Given the description of an element on the screen output the (x, y) to click on. 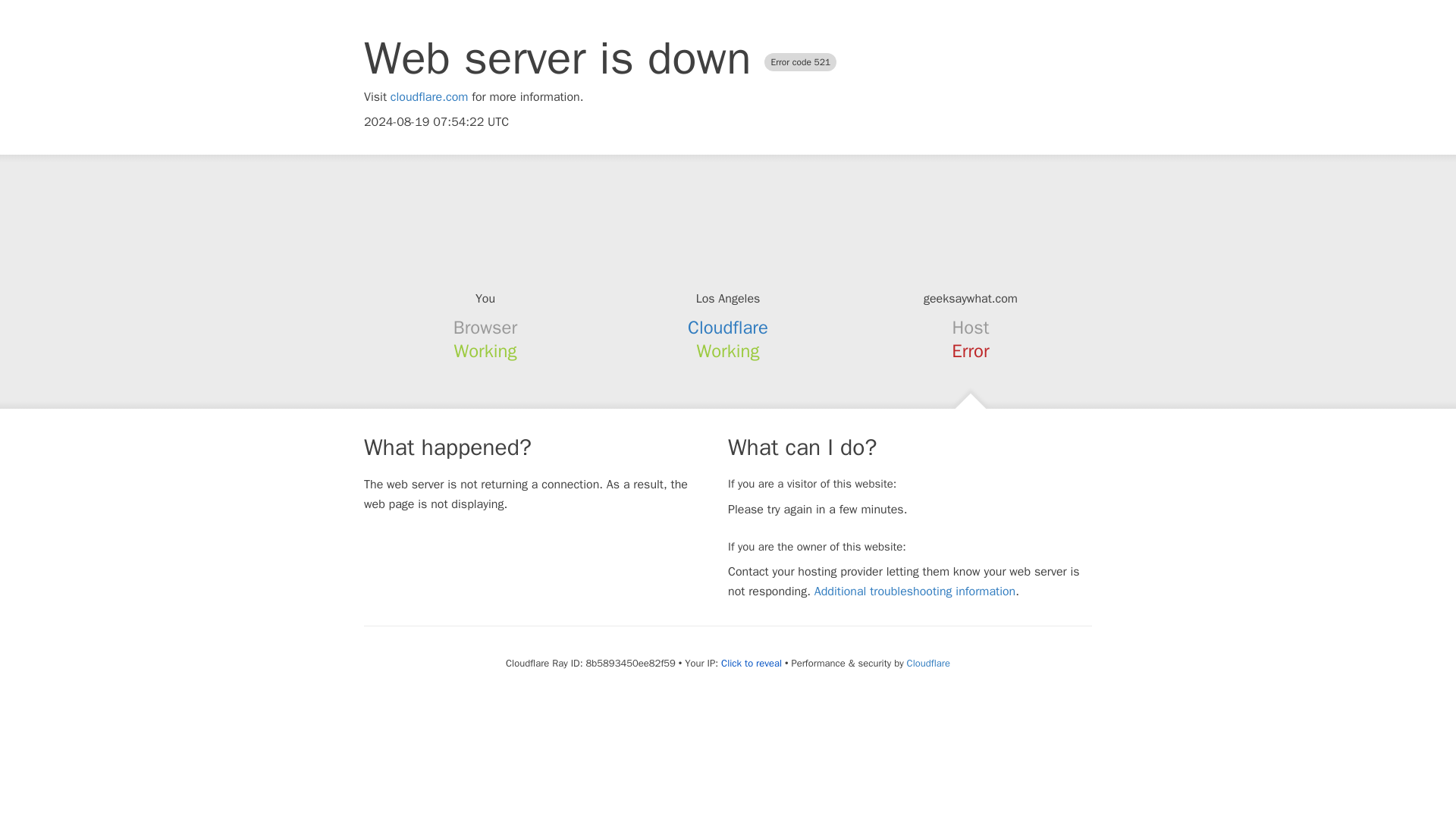
Click to reveal (750, 663)
Cloudflare (928, 662)
cloudflare.com (429, 96)
Additional troubleshooting information (913, 590)
Cloudflare (727, 327)
